Given the description of an element on the screen output the (x, y) to click on. 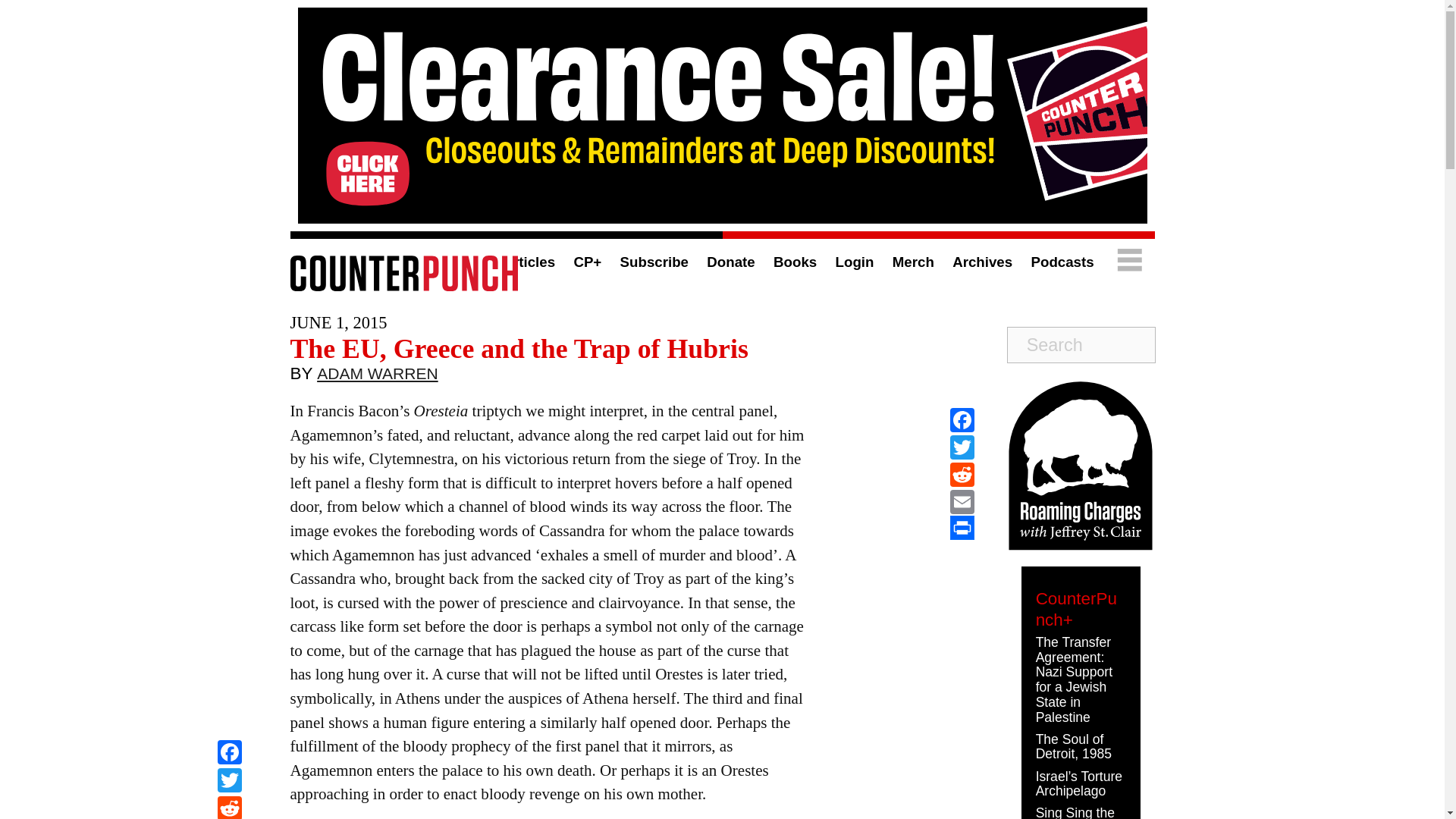
Books (794, 261)
Twitter (962, 447)
Podcasts (1061, 261)
Reddit (229, 807)
Print This Post (962, 527)
ADAM WARREN (377, 376)
The EU, Greece and the Trap of Hubris (518, 348)
Subscribe (654, 261)
Archives (981, 261)
Twitter (229, 782)
